Given the description of an element on the screen output the (x, y) to click on. 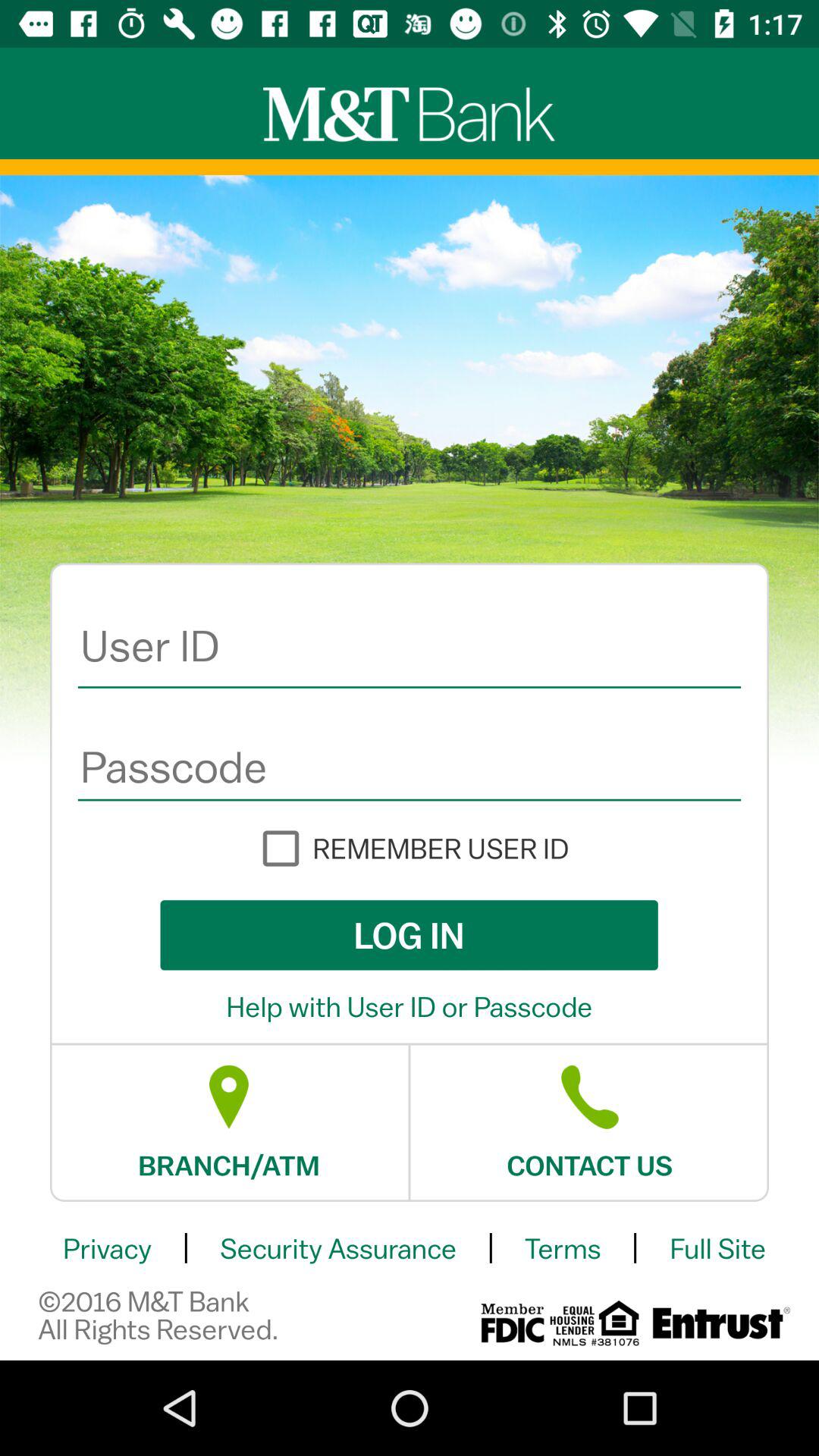
choose icon above help with user icon (409, 935)
